Given the description of an element on the screen output the (x, y) to click on. 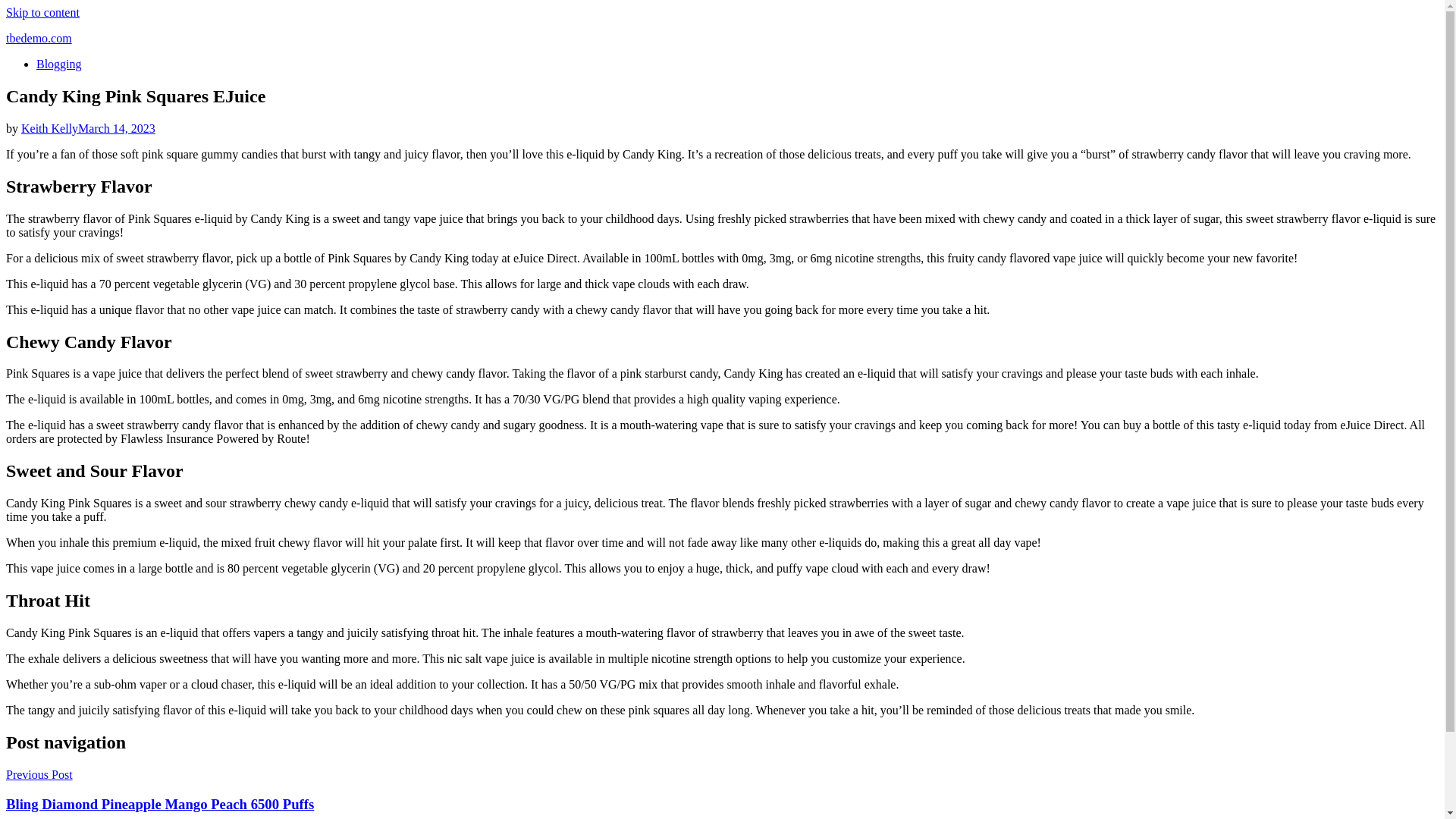
Skip to content (42, 11)
March 14, 2023 (116, 128)
Blogging (58, 63)
Keith Kelly (49, 128)
View all posts by Keith Kelly (49, 128)
tbedemo.com (38, 38)
